Given the description of an element on the screen output the (x, y) to click on. 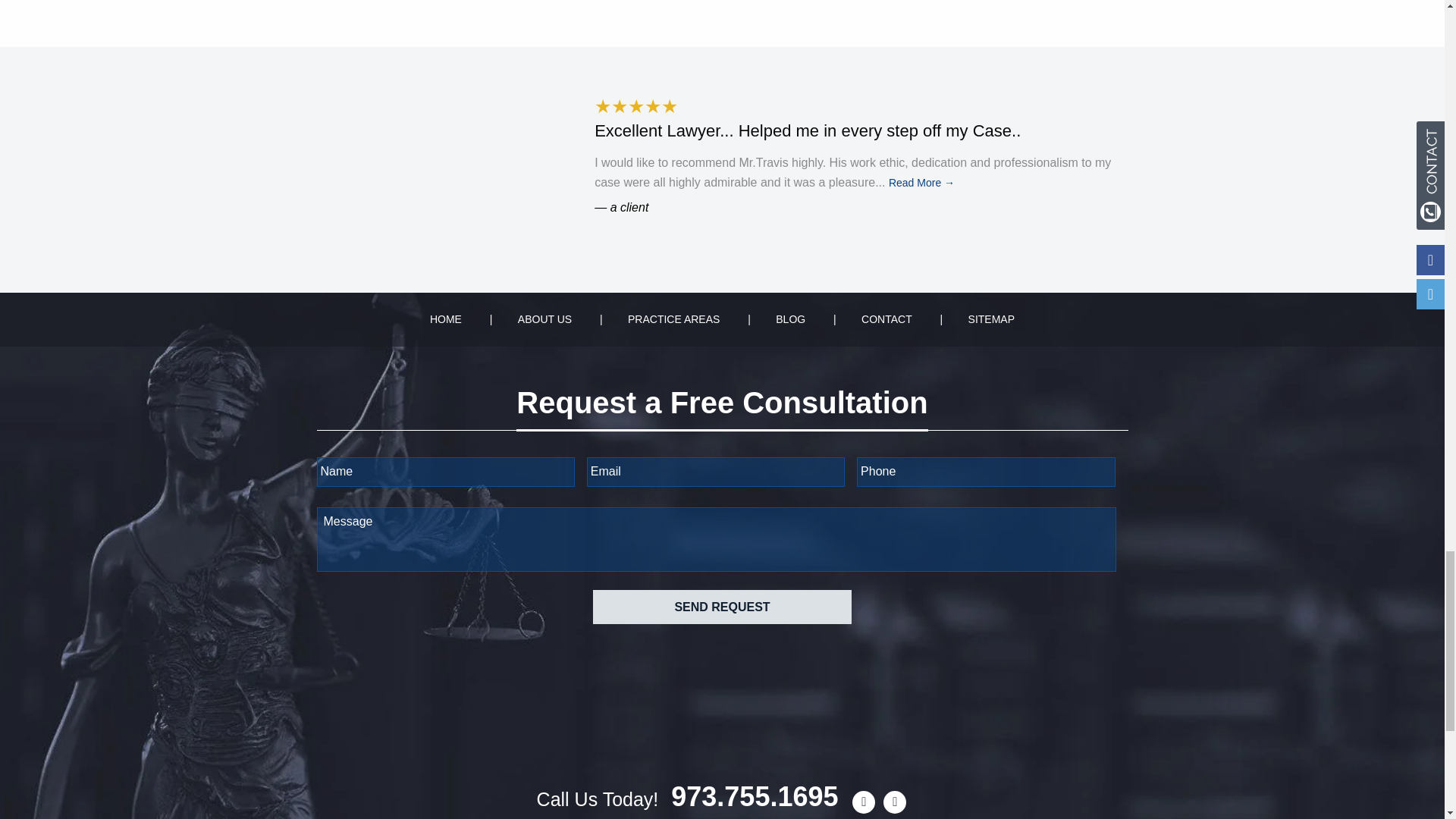
Send Request (721, 606)
